Given the description of an element on the screen output the (x, y) to click on. 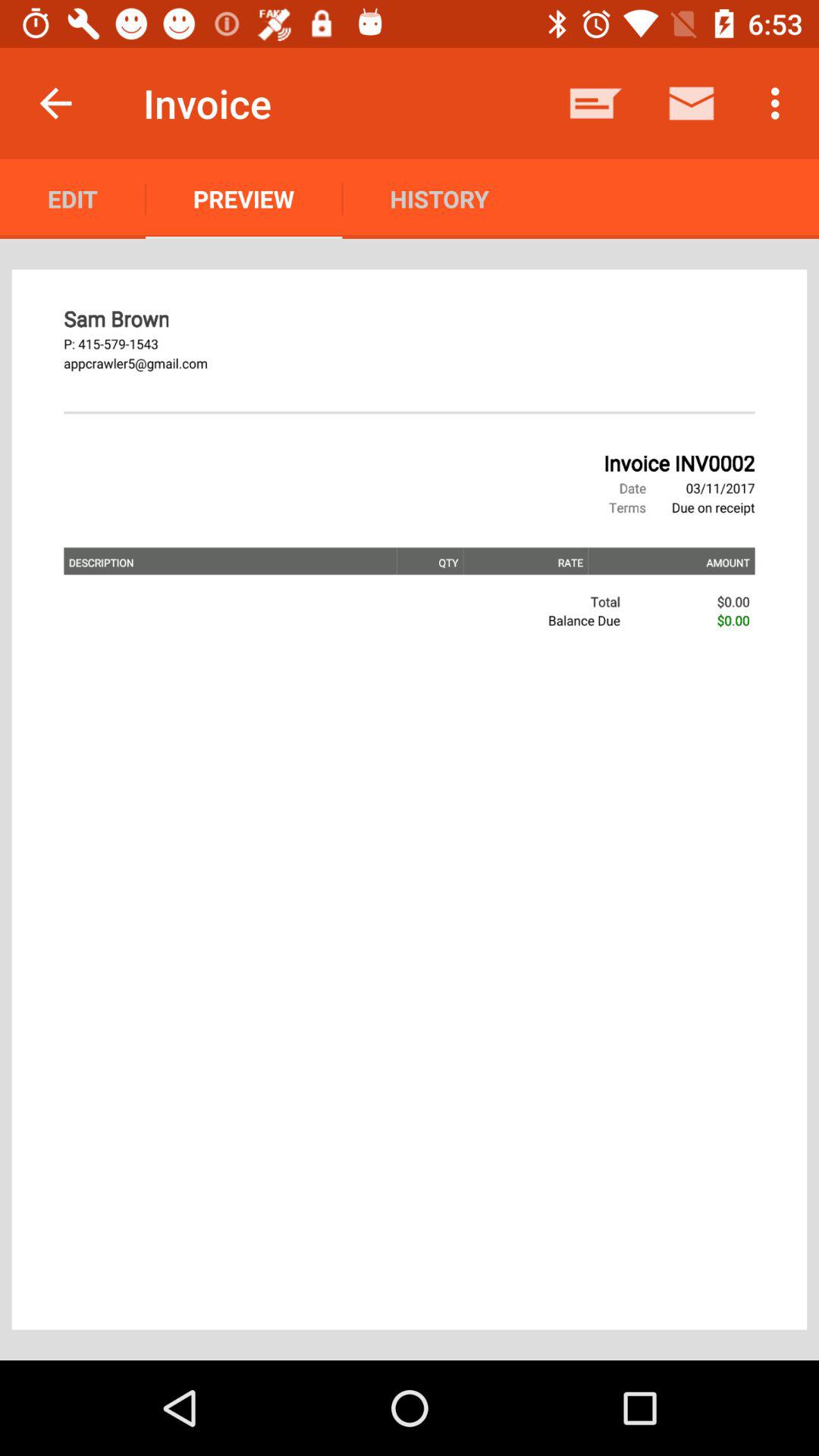
press the icon above edit app (55, 103)
